Given the description of an element on the screen output the (x, y) to click on. 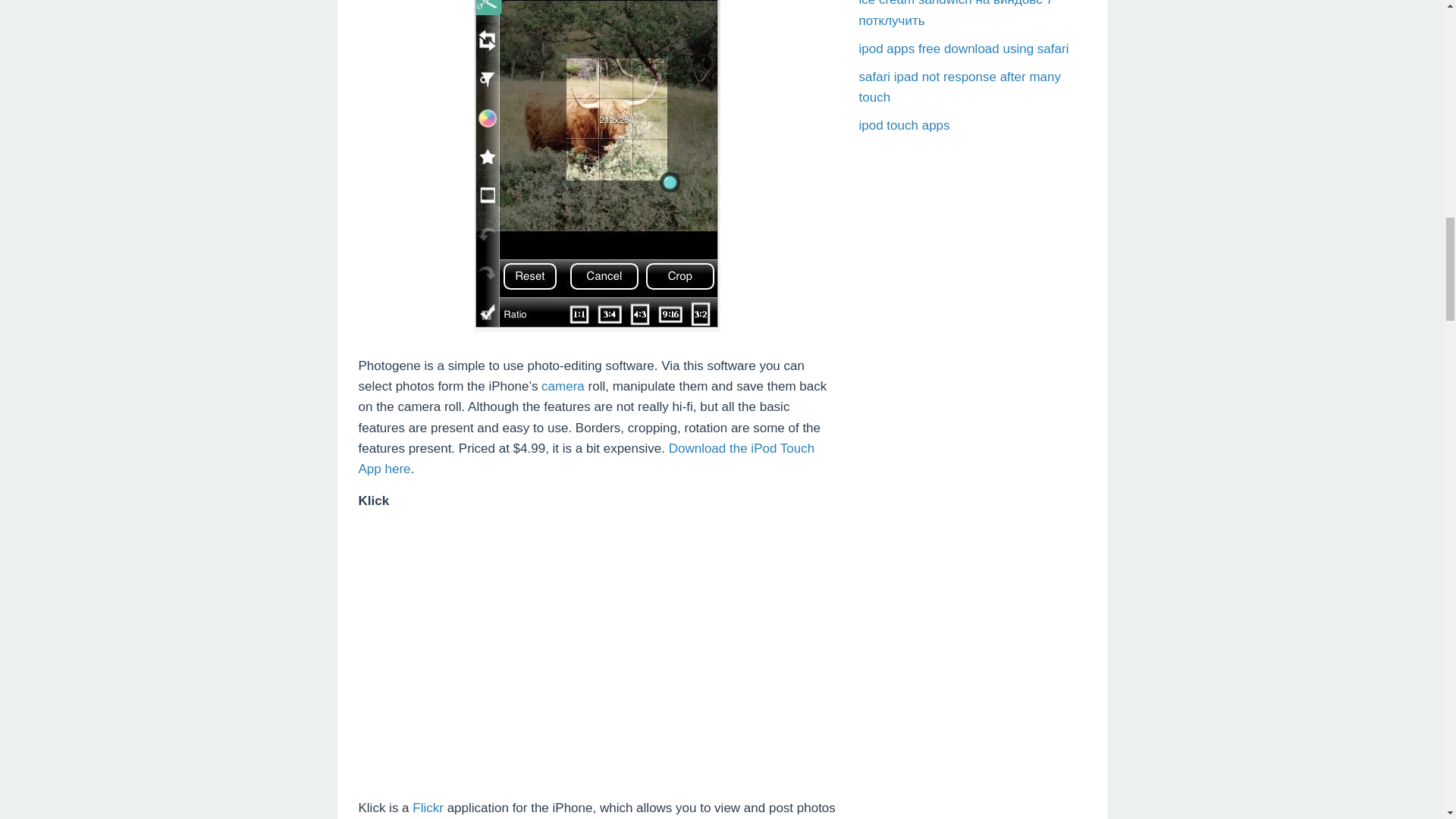
Flickr (428, 807)
camera (563, 386)
here (397, 468)
Klick iPhone App (596, 647)
Download the iPod Touch App (585, 458)
